Given the description of an element on the screen output the (x, y) to click on. 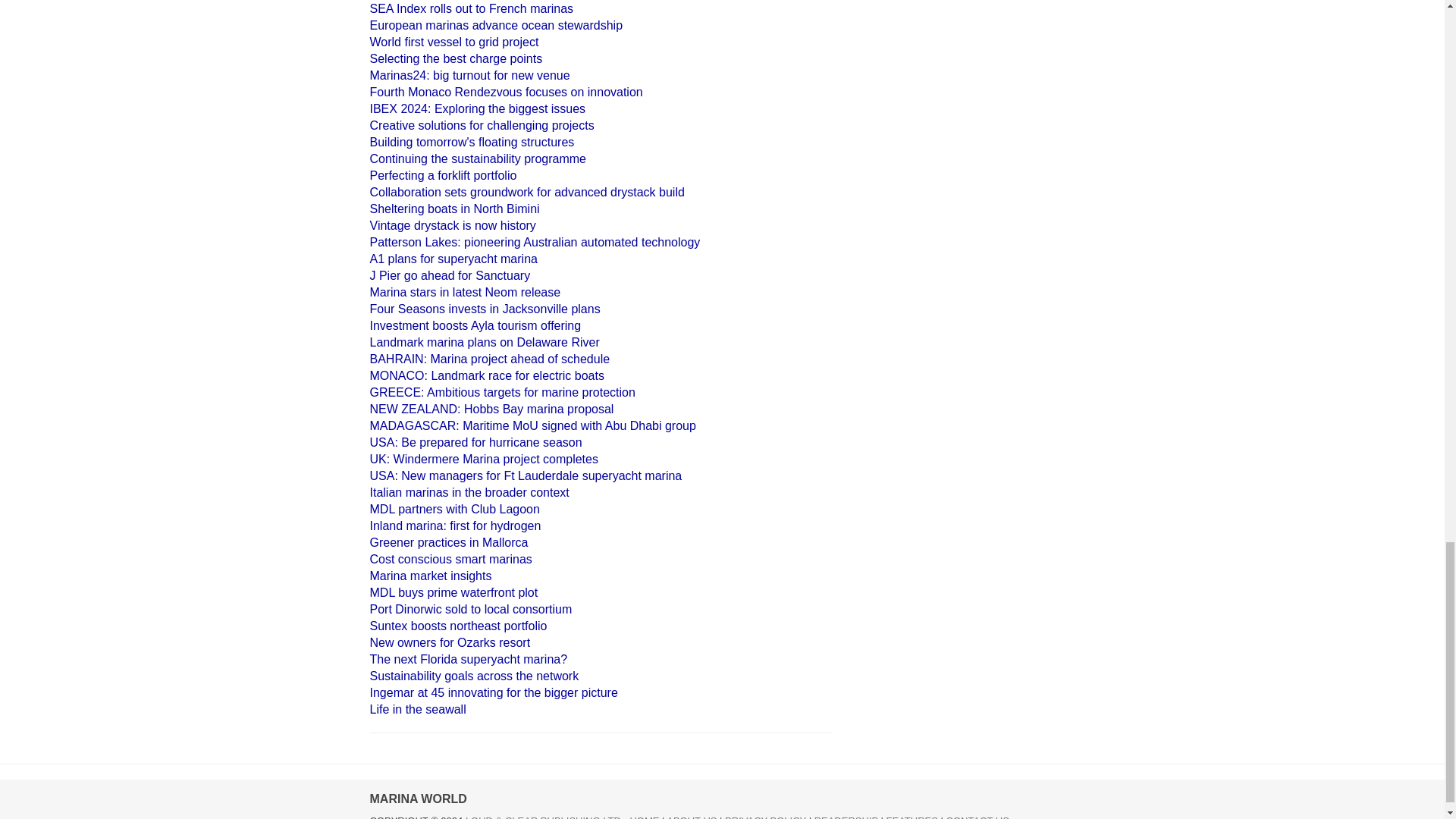
IBEX 2024: Exploring the biggest issues (477, 108)
SEA Index rolls out to French marinas (471, 8)
Marinas24: big turnout for new venue (469, 74)
Creative solutions for challenging projects (481, 124)
European marinas advance ocean stewardship (496, 24)
Selecting the best charge points (456, 58)
World first vessel to grid project (453, 42)
Fourth Monaco Rendezvous focuses on innovation (506, 91)
Building tomorrow's floating structures (472, 141)
Continuing the sustainability programme (477, 158)
Perfecting a forklift portfolio (442, 174)
